Given the description of an element on the screen output the (x, y) to click on. 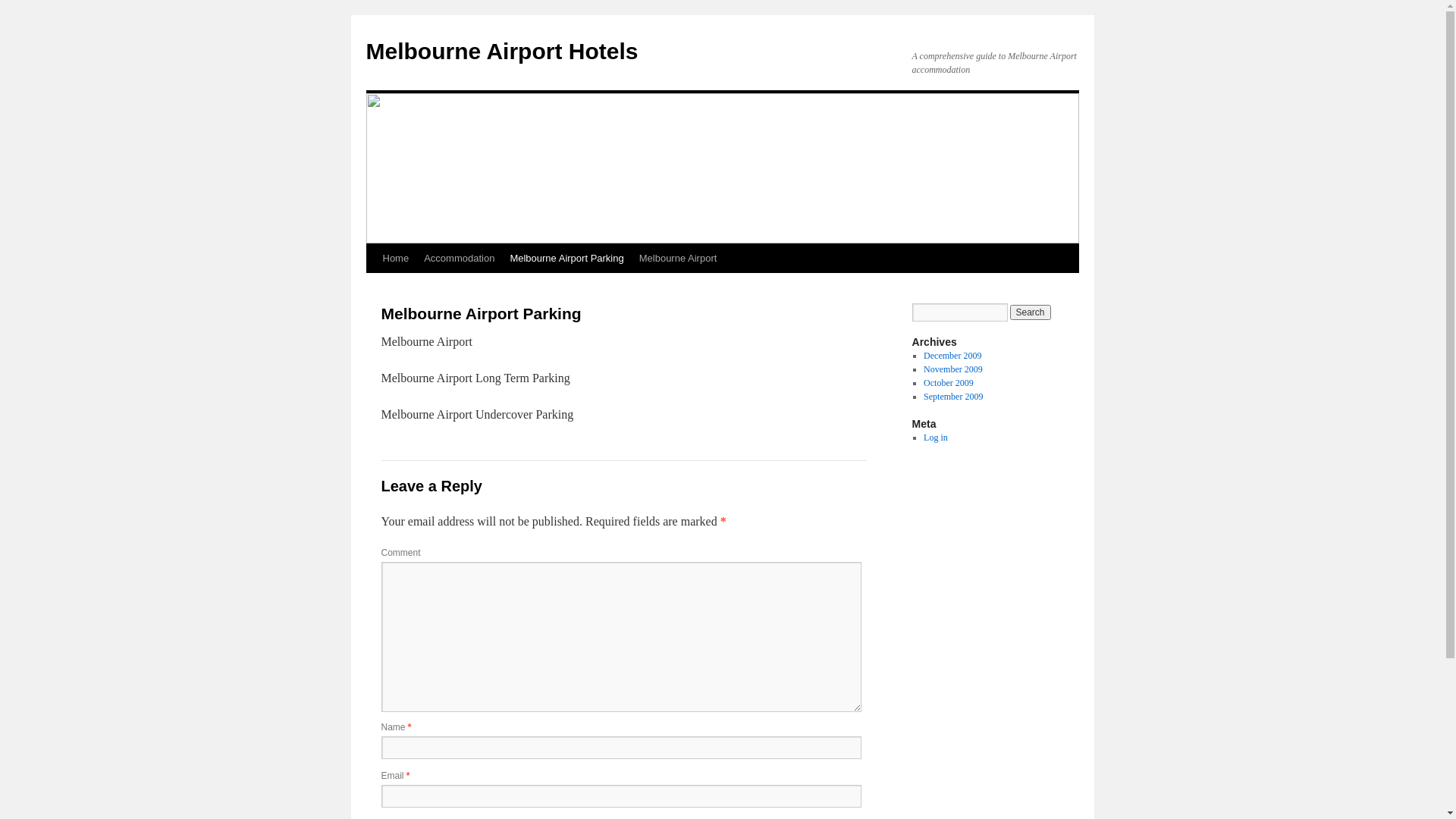
Melbourne Airport Element type: text (677, 258)
Melbourne Airport Parking Element type: text (566, 258)
Log in Element type: text (935, 437)
November 2009 Element type: text (952, 369)
Melbourne Airport Hotels Element type: text (501, 50)
October 2009 Element type: text (948, 382)
Home Element type: text (395, 258)
Accommodation Element type: text (459, 258)
Search Element type: text (1030, 312)
December 2009 Element type: text (952, 355)
Skip to content Element type: text (372, 287)
September 2009 Element type: text (952, 396)
